Given the description of an element on the screen output the (x, y) to click on. 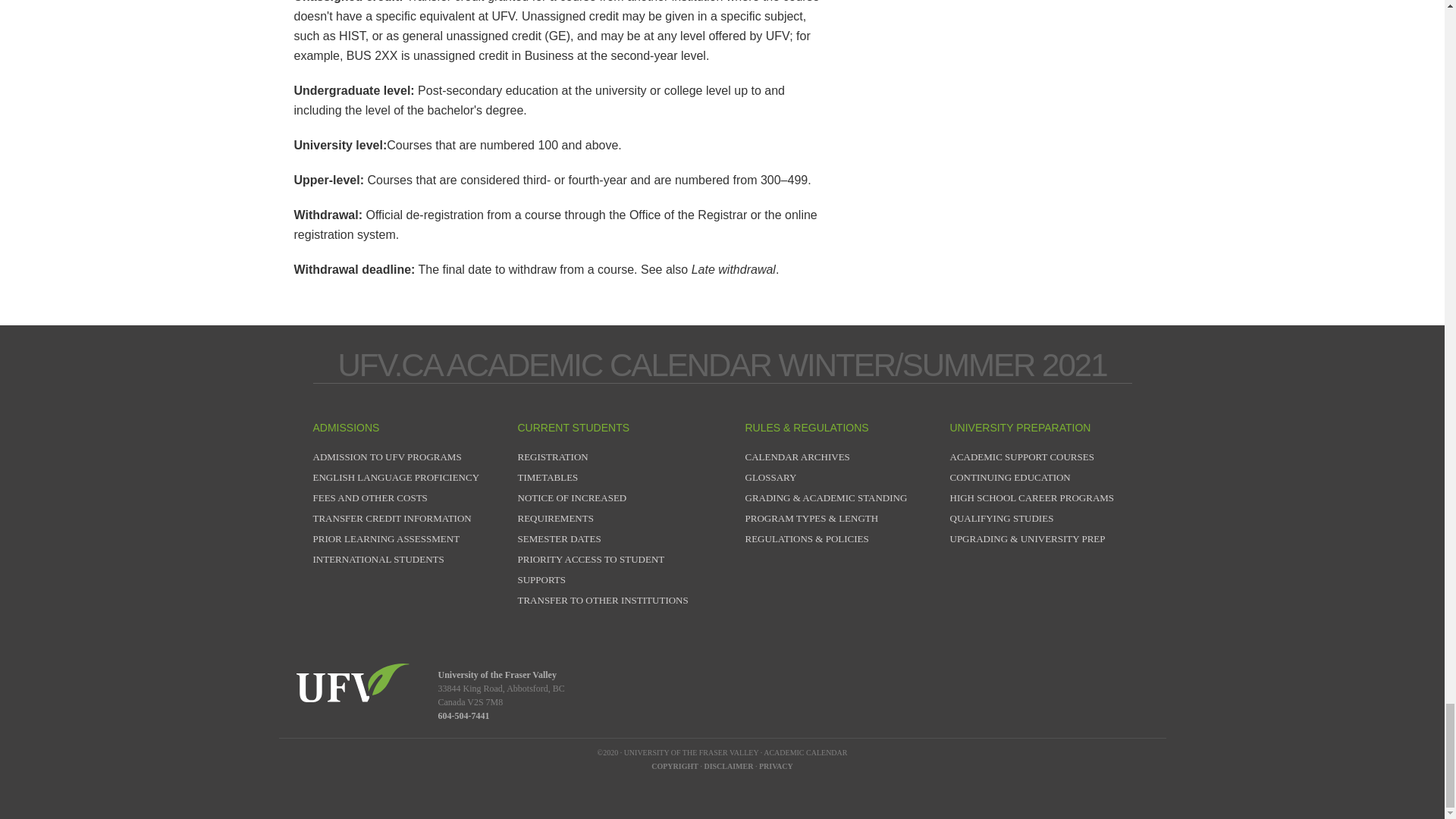
UFV Timetables (547, 477)
UFV Privacy Policy (775, 766)
UFV Copyright (674, 766)
University of the Fraser Valley (352, 682)
